Given the description of an element on the screen output the (x, y) to click on. 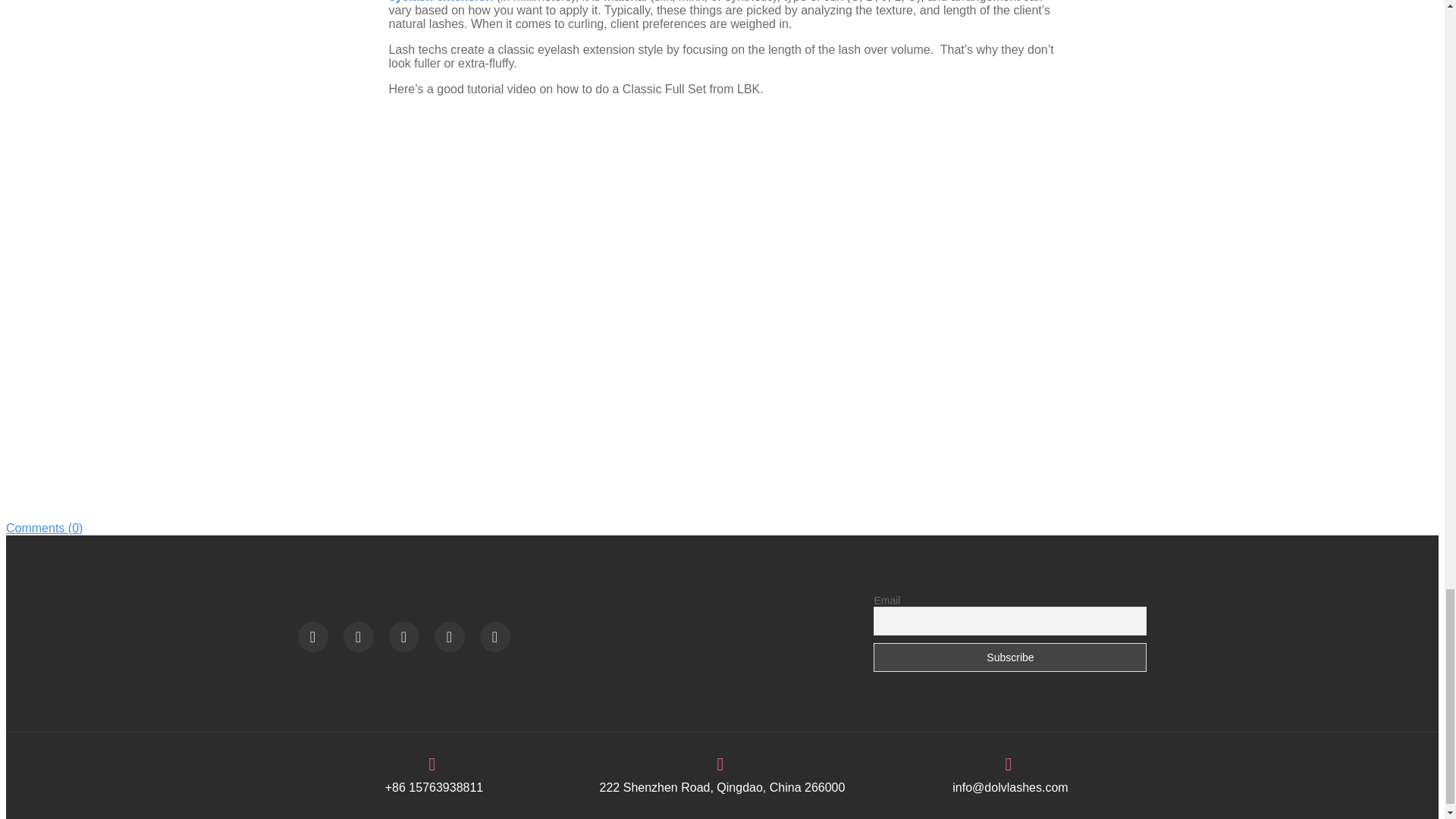
Subscribe (1010, 656)
Subscribe (1010, 656)
